Given the description of an element on the screen output the (x, y) to click on. 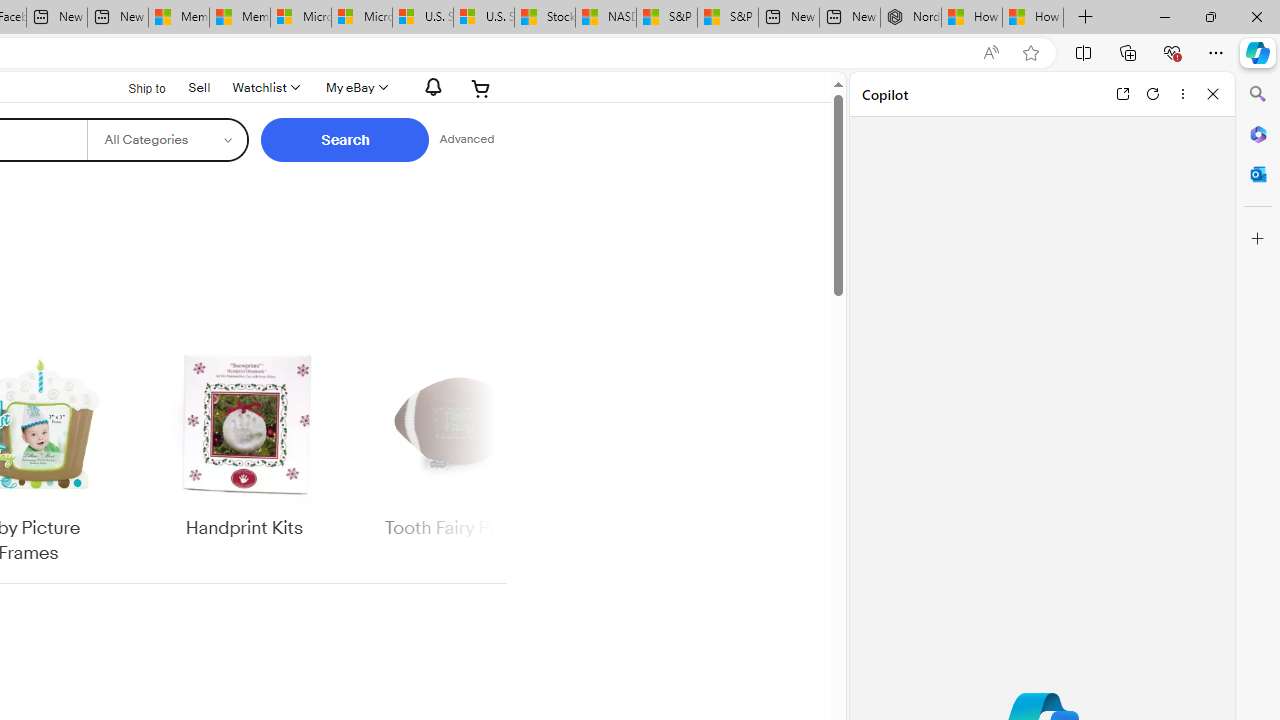
Select a category for search (167, 139)
Customize (1258, 239)
AutomationID: gh-eb-Alerts (430, 87)
Sell (199, 87)
Ship to (134, 89)
Outlook (1258, 174)
Ship to (134, 86)
